Given the description of an element on the screen output the (x, y) to click on. 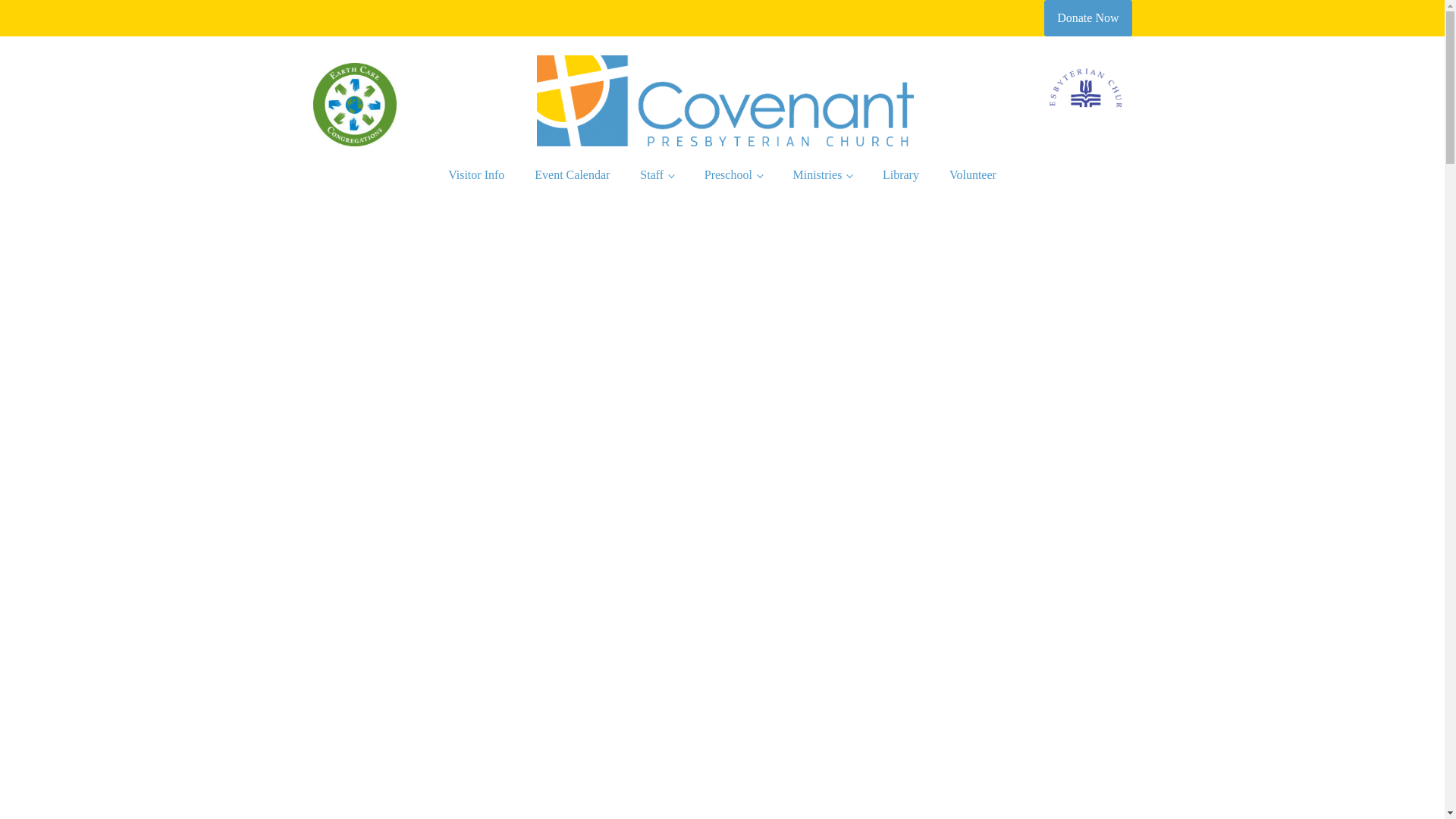
Event Calendar (571, 174)
Visitor Info (475, 174)
Donate Now (1087, 18)
Ministries (821, 174)
Preschool (732, 174)
Staff (656, 174)
